Given the description of an element on the screen output the (x, y) to click on. 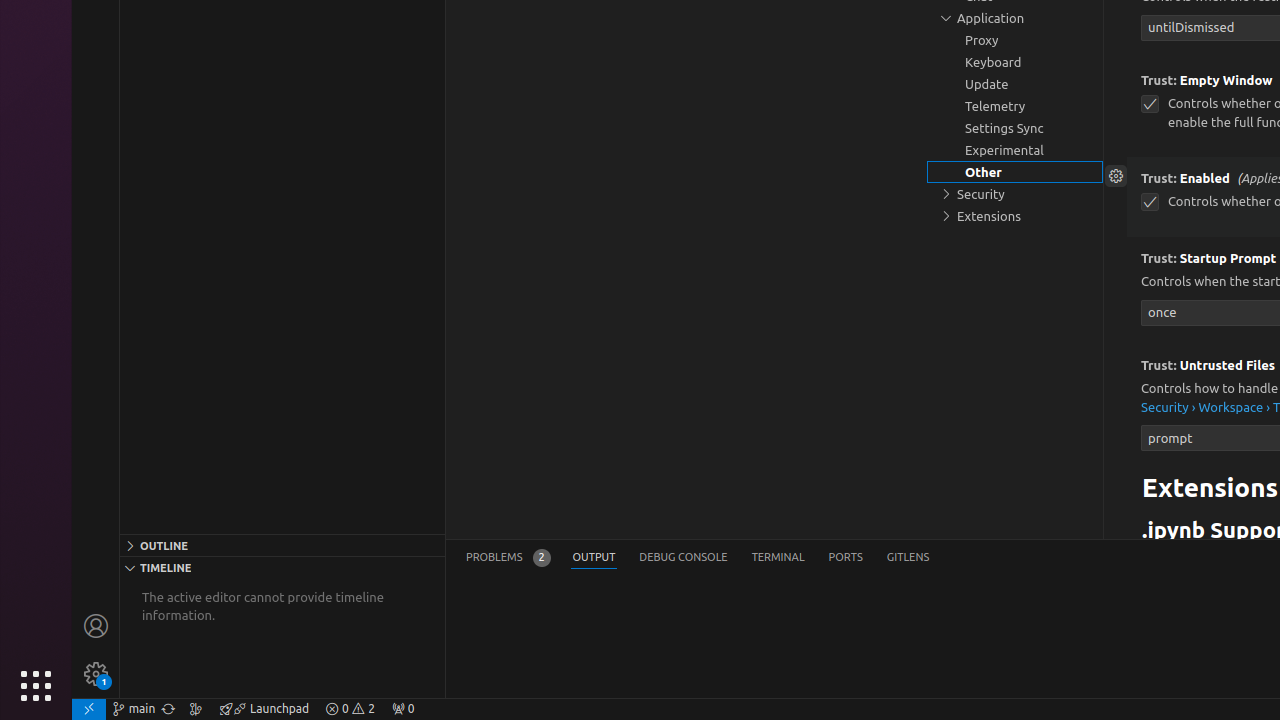
security.workspace.trust.emptyWindow Element type: check-box (1150, 104)
security.workspace.trust.enabled Element type: check-box (1150, 202)
More Actions... (Shift+F9) Element type: push-button (1116, 363)
Active View Switcher Element type: page-tab-list (698, 557)
remote Element type: push-button (89, 709)
